Given the description of an element on the screen output the (x, y) to click on. 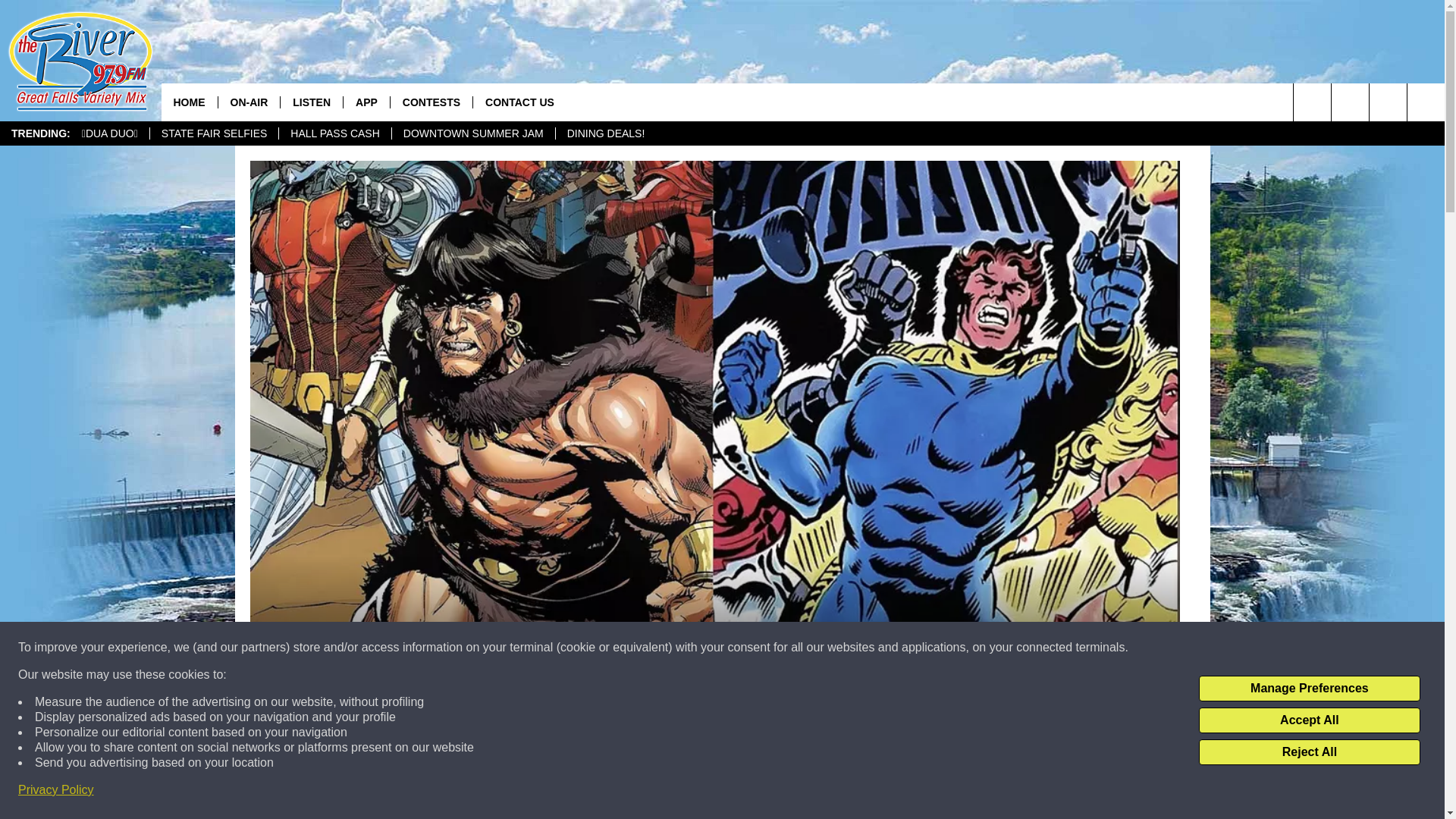
Privacy Policy (55, 789)
Share on Twitter (912, 791)
HALL PASS CASH (334, 133)
Manage Preferences (1309, 688)
Reject All (1309, 751)
DOWNTOWN SUMMER JAM (472, 133)
CONTESTS (430, 102)
DINING DEALS! (605, 133)
HOME (188, 102)
APP (366, 102)
LISTEN (310, 102)
CONTACT US (518, 102)
Share on Facebook (517, 791)
ON-AIR (247, 102)
STATE FAIR SELFIES (214, 133)
